Given the description of an element on the screen output the (x, y) to click on. 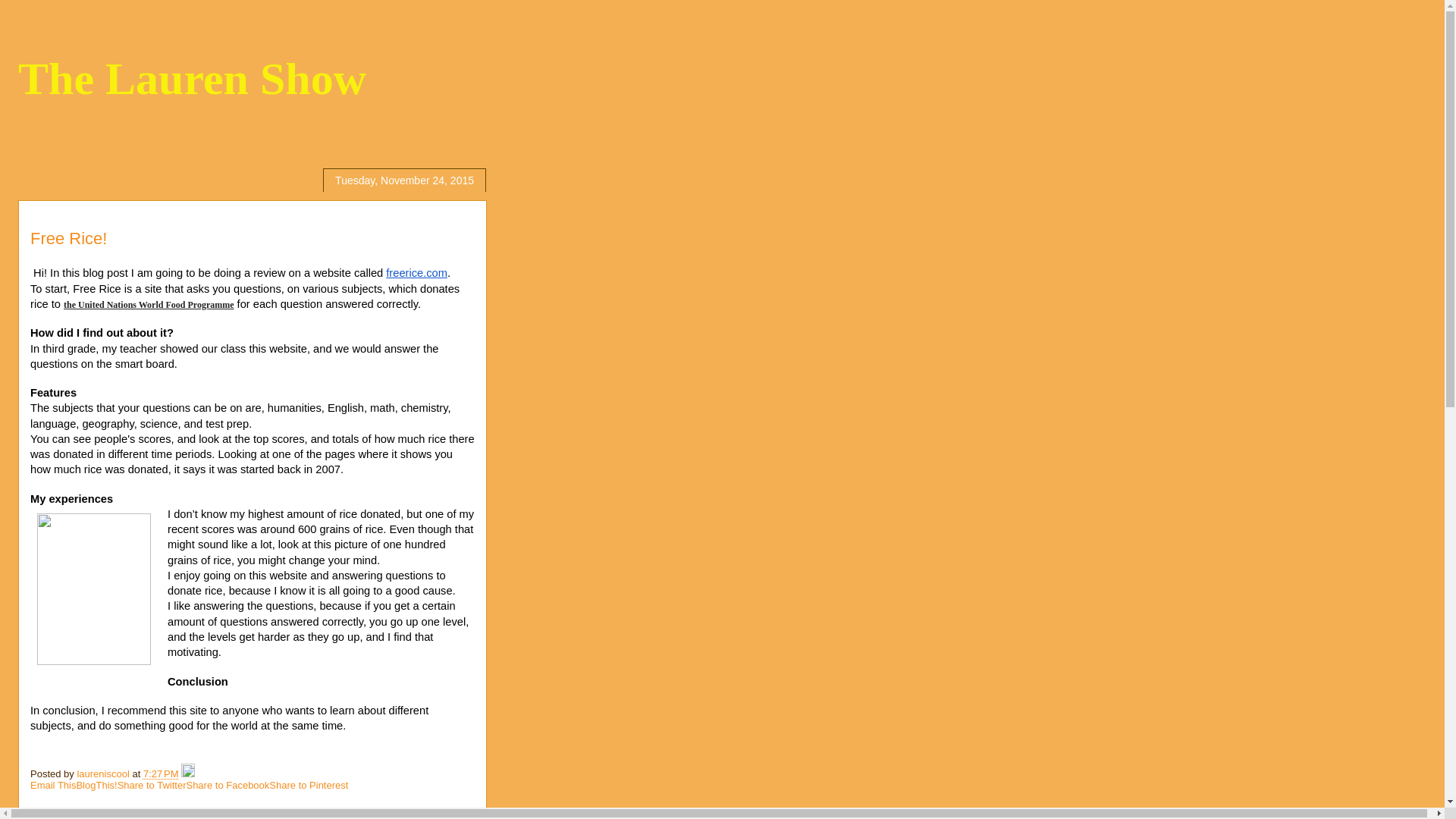
Share to Pinterest (308, 785)
laureniscool (104, 773)
Edit Post (187, 773)
Share to Twitter (151, 785)
Share to Pinterest (308, 785)
Share to Facebook (227, 785)
Email This (52, 785)
BlogThis! (95, 785)
author profile (104, 773)
Share to Twitter (151, 785)
BlogThis! (95, 785)
the United Nations World Food Programme (149, 304)
Share to Facebook (227, 785)
permanent link (160, 773)
